Given the description of an element on the screen output the (x, y) to click on. 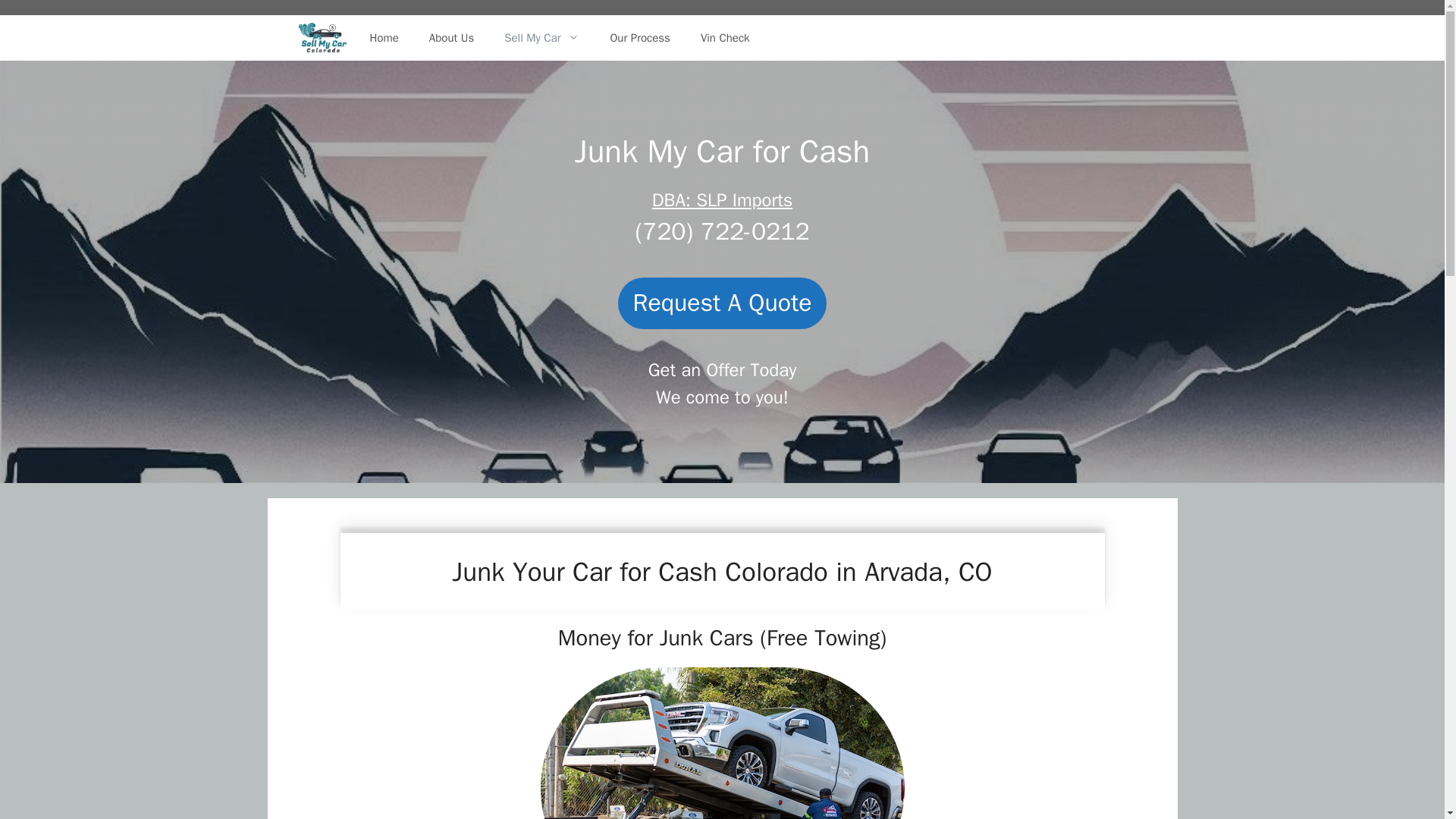
Vin Check (725, 37)
Request A Quote (722, 303)
We Buy Cars (321, 37)
About Us (451, 37)
Our Process (639, 37)
Sell My Car (541, 37)
Home (384, 37)
